Given the description of an element on the screen output the (x, y) to click on. 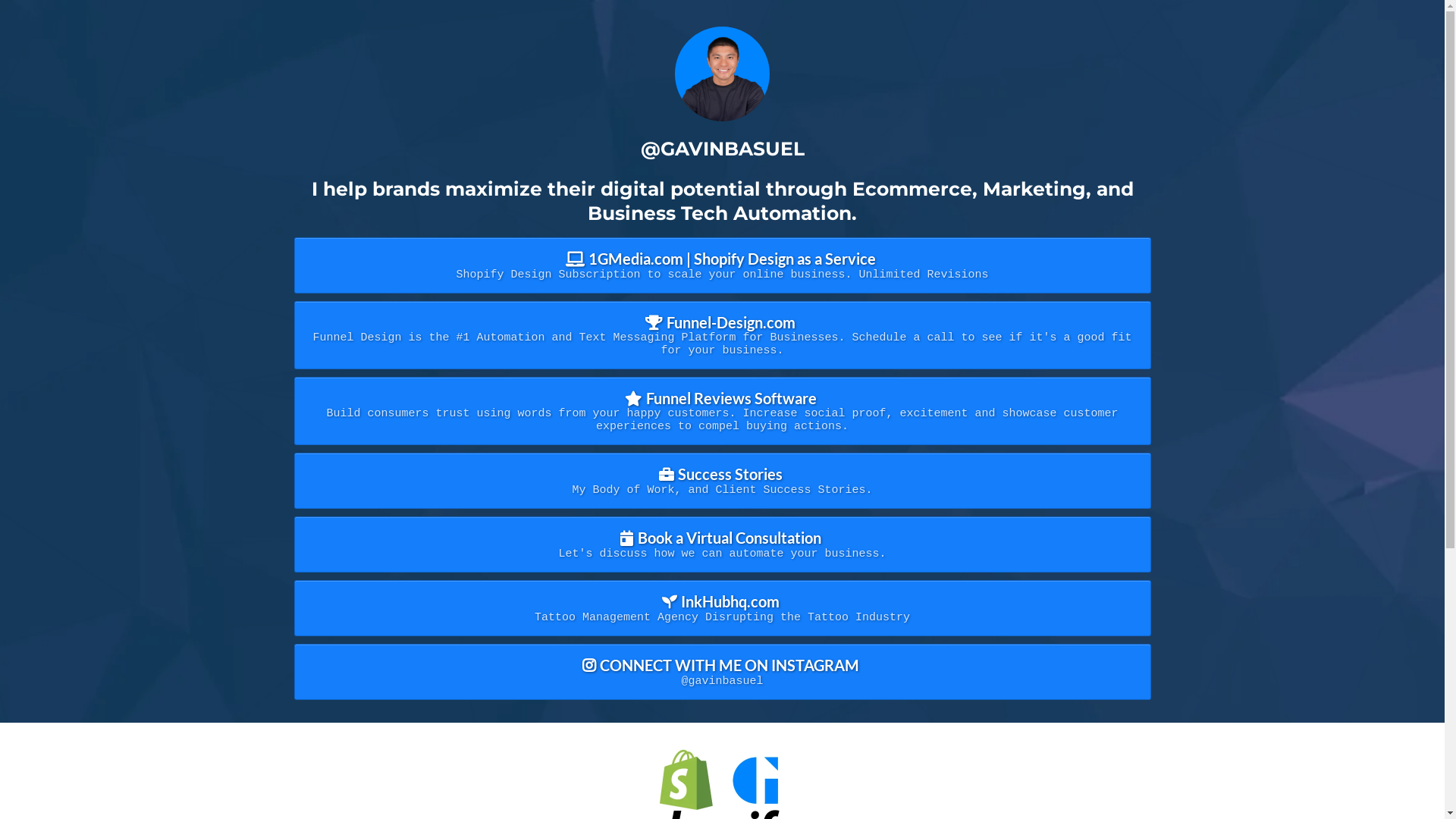
CONNECT WITH ME ON INSTAGRAM
@gavinbasuel Element type: text (722, 671)
Success Stories
My Body of Work, and Client Success Stories. Element type: text (722, 479)
